Given the description of an element on the screen output the (x, y) to click on. 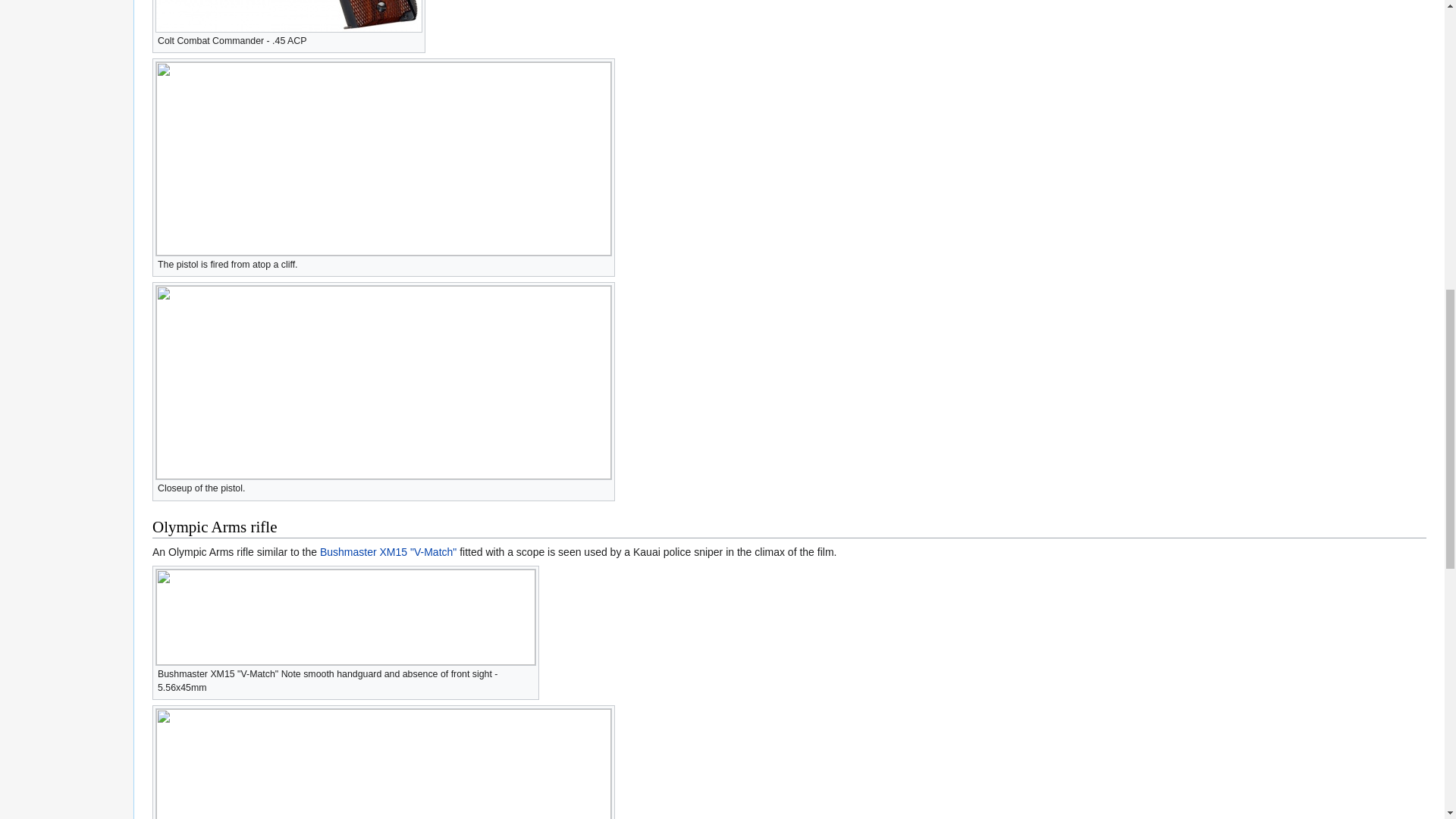
Enlarge (604, 262)
Enlarge (528, 672)
Enlarge (604, 486)
M16 (388, 551)
Bushmaster XM15 "V-Match" (388, 551)
Enlarge (414, 39)
